Given the description of an element on the screen output the (x, y) to click on. 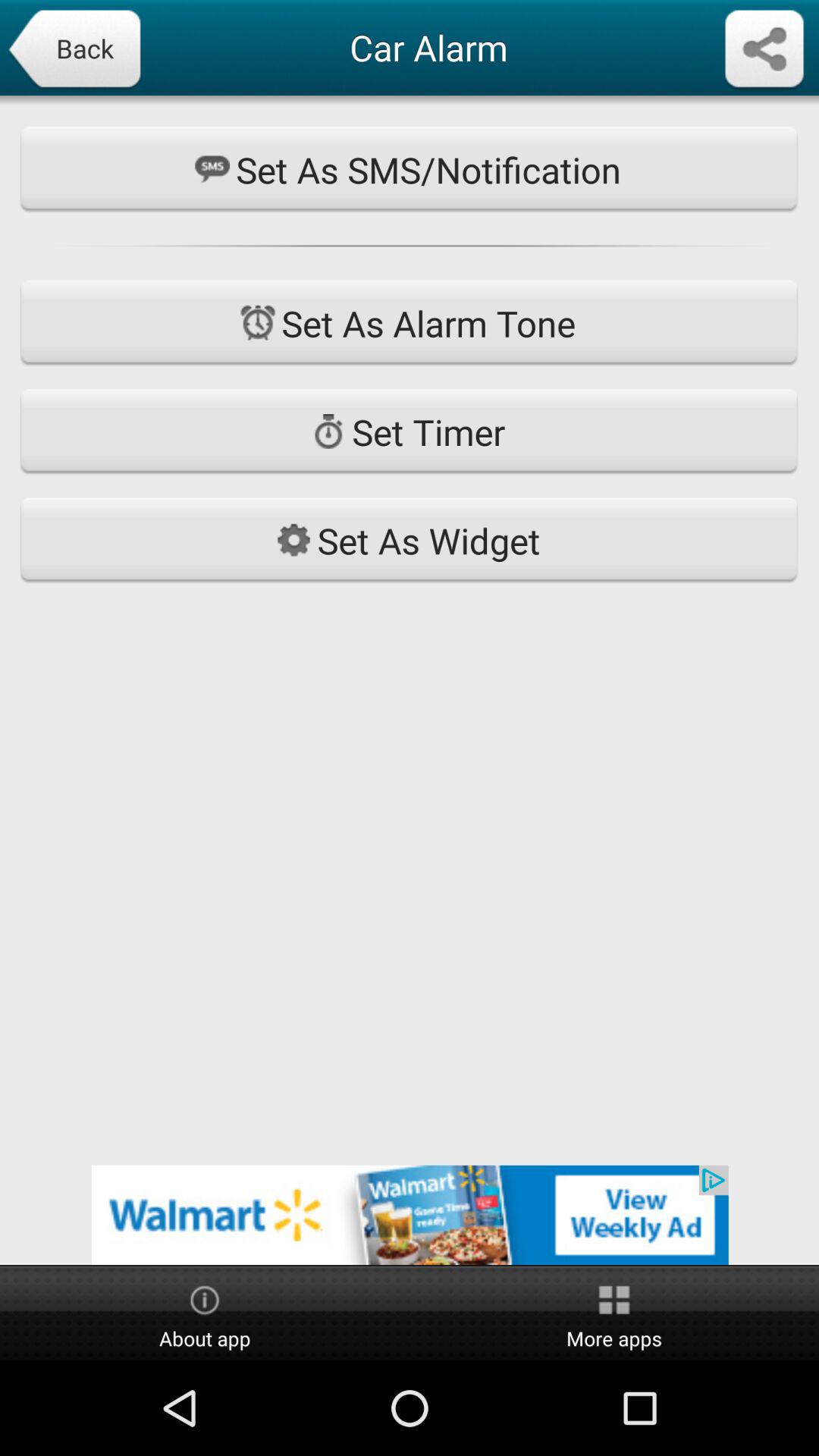
see advertisement (409, 1214)
